Given the description of an element on the screen output the (x, y) to click on. 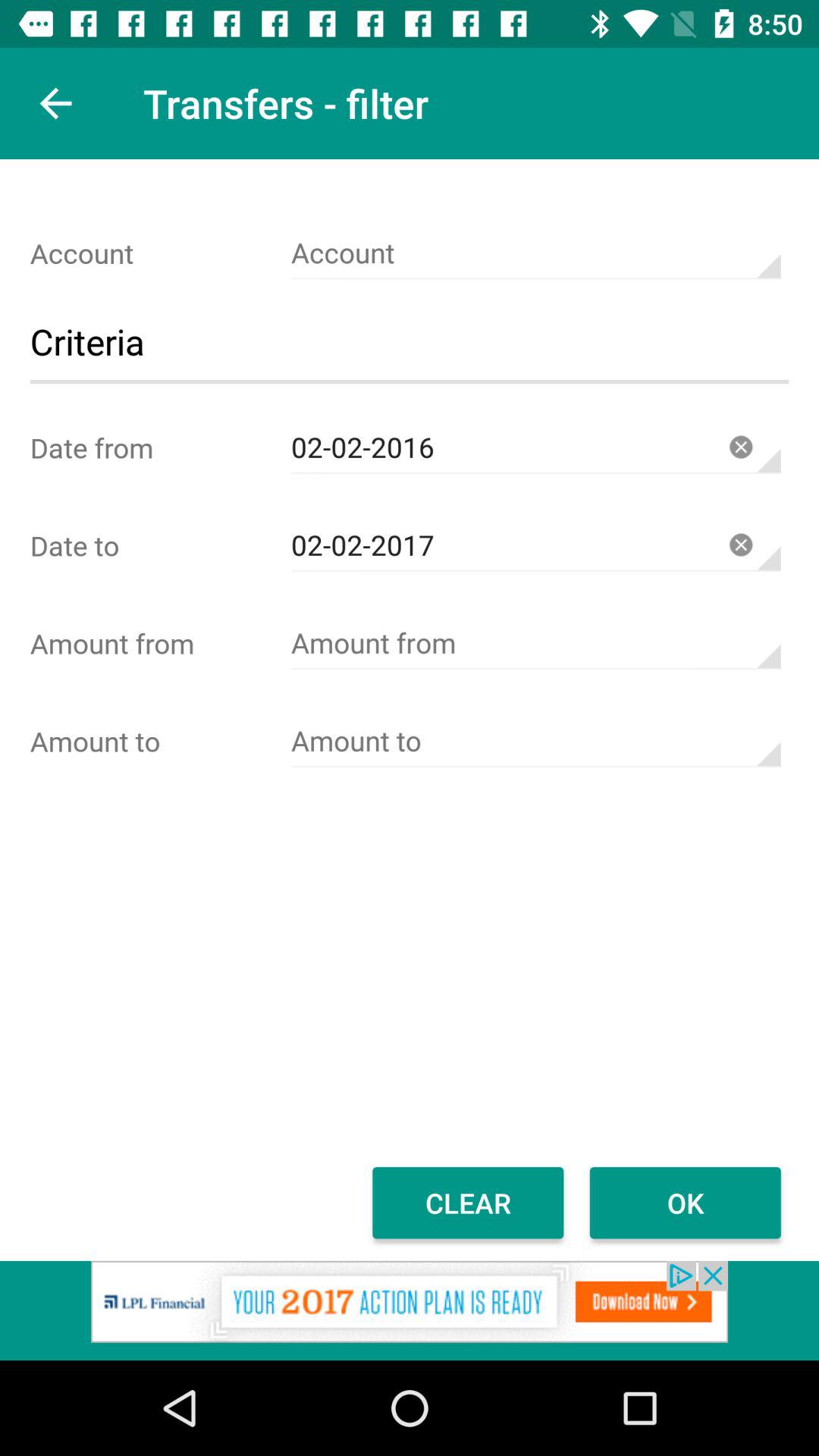
enters amount (535, 643)
